Given the description of an element on the screen output the (x, y) to click on. 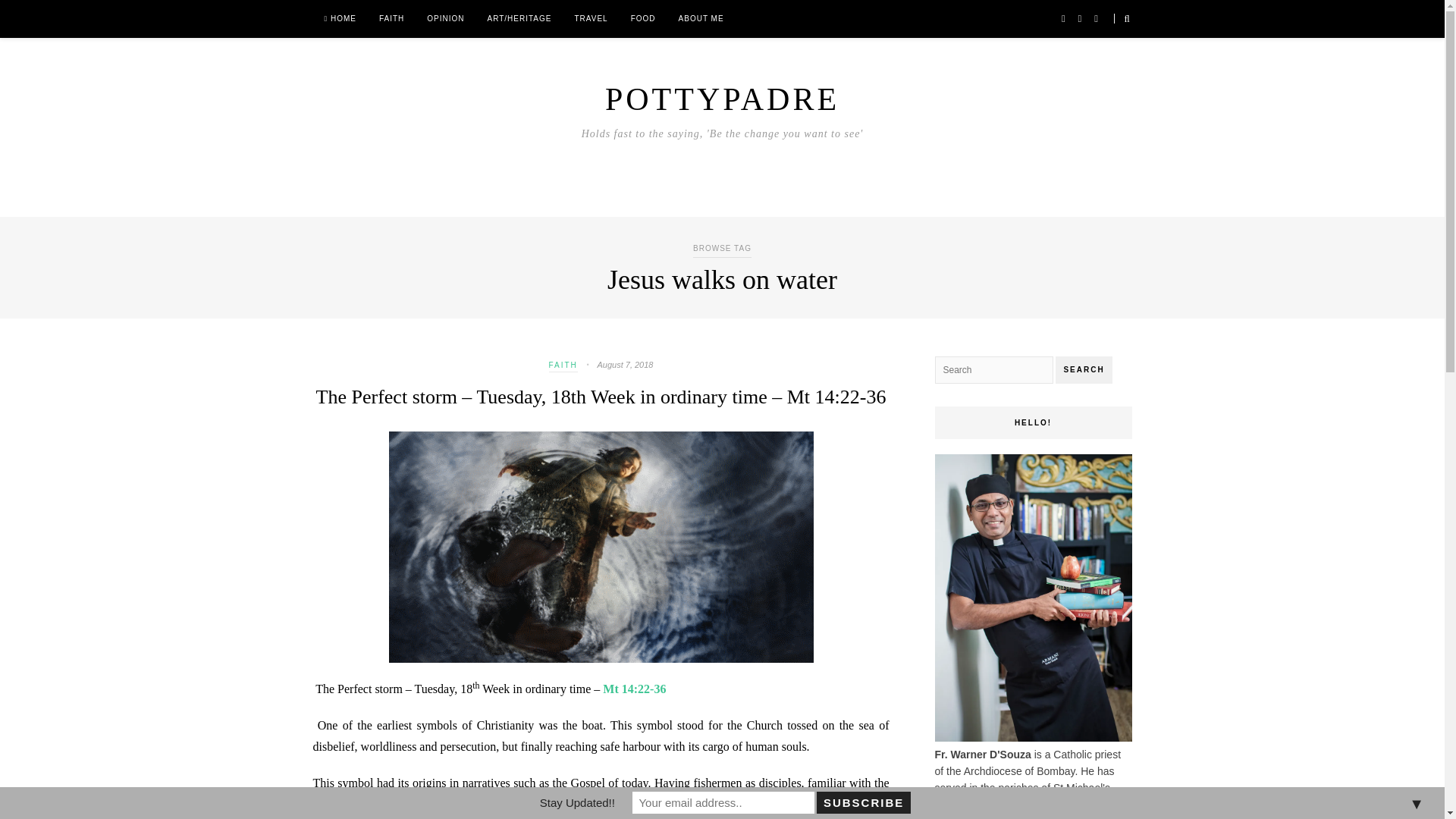
Subscribe (863, 802)
FAITH (391, 18)
ABOUT ME (700, 18)
FAITH (563, 366)
FOOD (643, 18)
POTTYPADRE (722, 99)
HOME (339, 18)
SEARCH (1083, 370)
OPINION (445, 18)
TRAVEL (590, 18)
Mt 14:22-36 (633, 688)
